Given the description of an element on the screen output the (x, y) to click on. 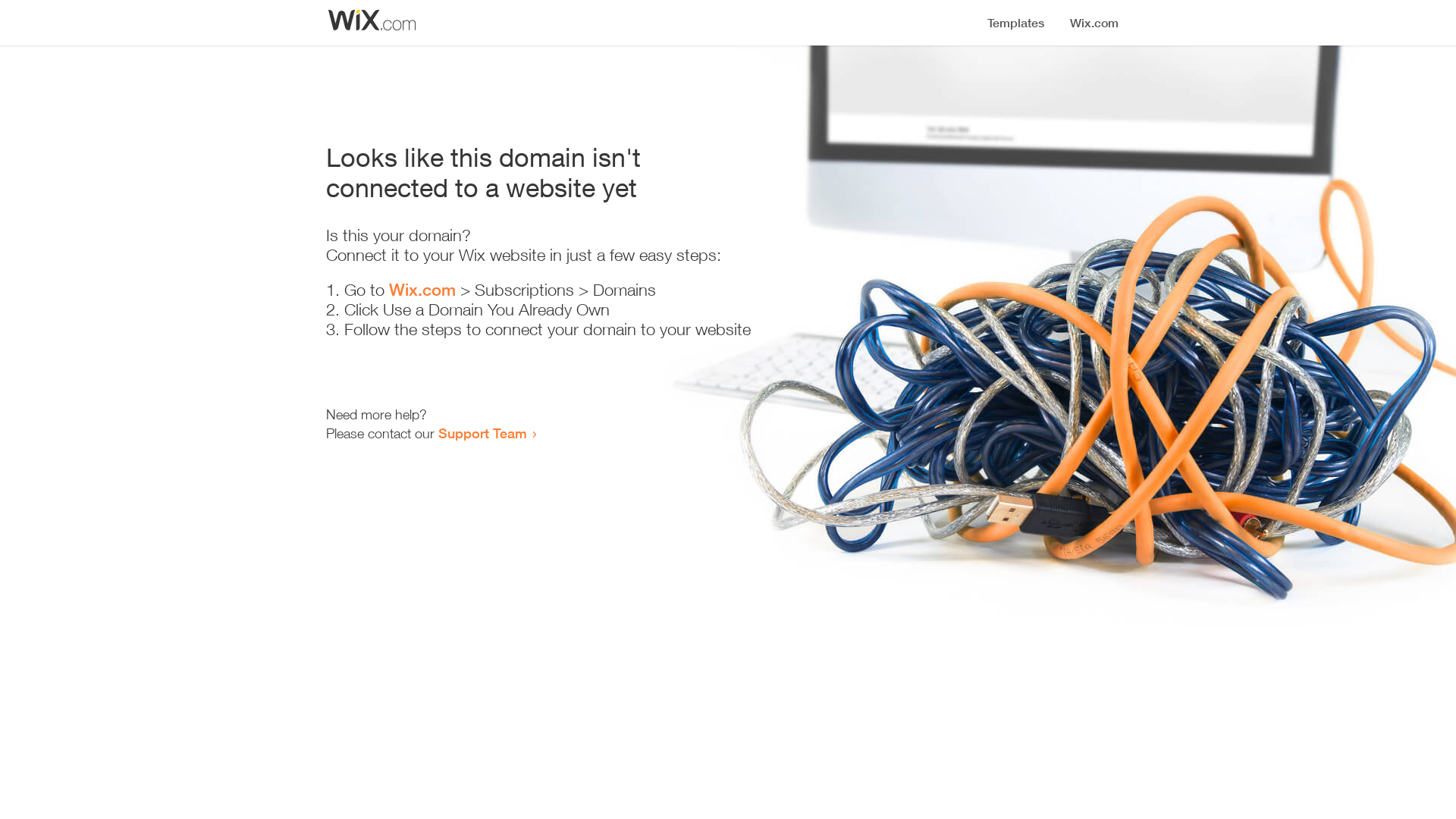
Wix.com Element type: text (422, 289)
Support Team Element type: text (482, 432)
